Given the description of an element on the screen output the (x, y) to click on. 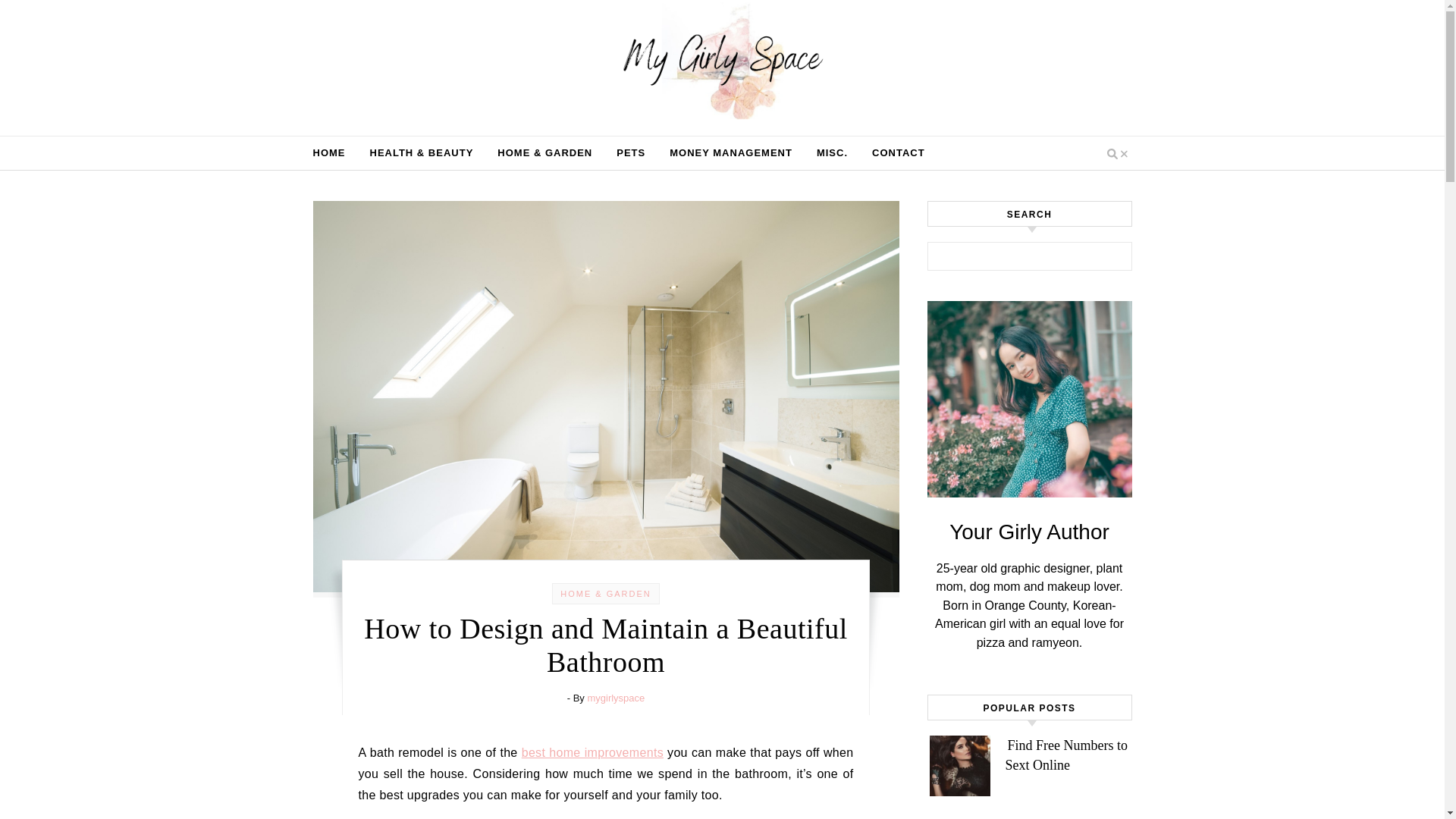
HOME (334, 152)
MONEY MANAGEMENT (731, 152)
mygirlyspace (615, 697)
CONTACT (892, 152)
best home improvements (592, 752)
Posts by mygirlyspace (615, 697)
Search (1104, 258)
PETS (631, 152)
MISC. (832, 152)
My Girly Space (721, 63)
